Given the description of an element on the screen output the (x, y) to click on. 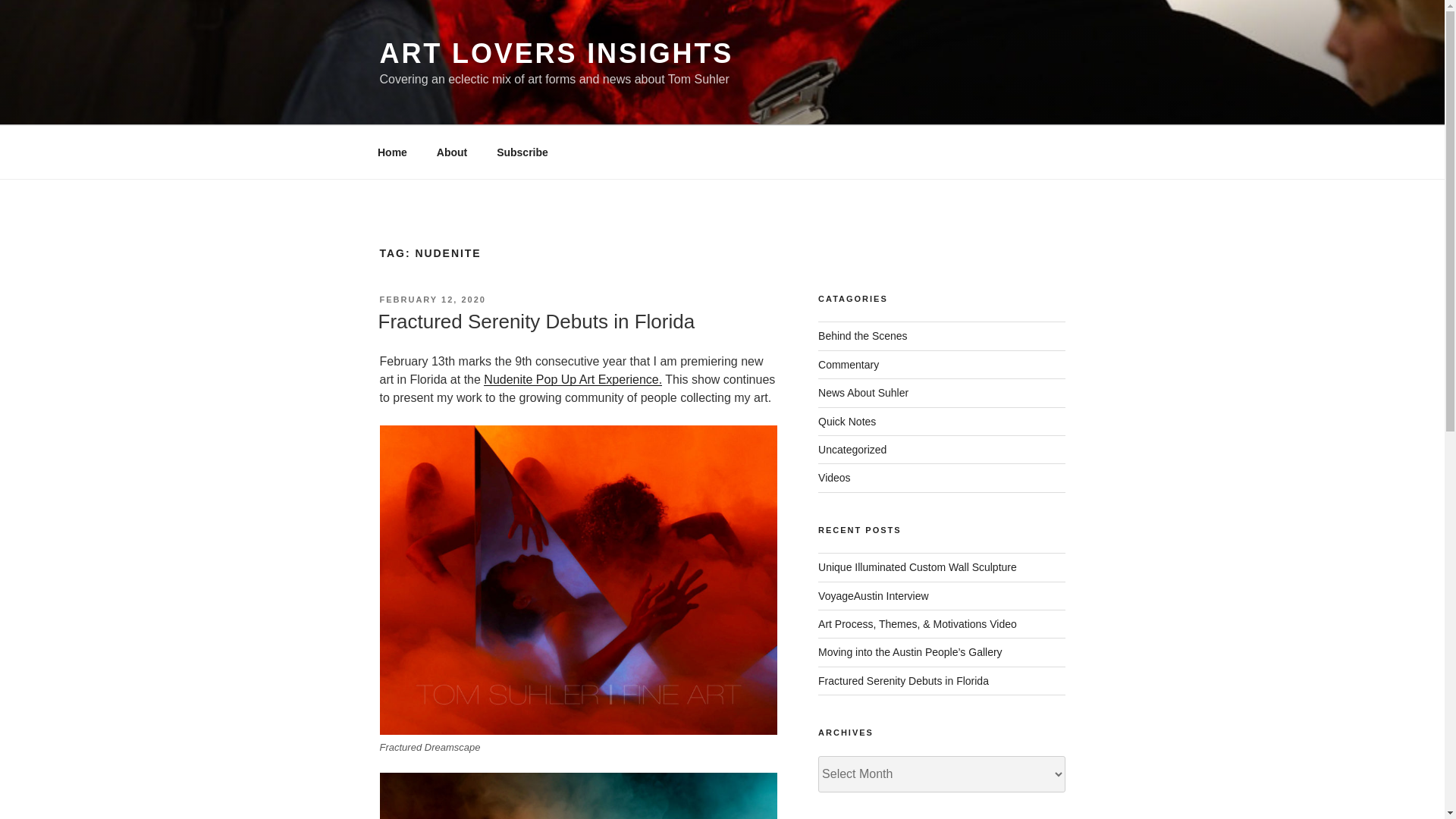
Home (392, 151)
Nudenite Pop Up Art Experience. (572, 379)
About (451, 151)
Videos (834, 477)
FEBRUARY 12, 2020 (431, 298)
VoyageAustin Interview (873, 595)
ART LOVERS INSIGHTS (555, 52)
Home (392, 151)
Subscribe (522, 151)
News About Suhler (863, 392)
Unique Illuminated Custom Wall Sculpture (917, 567)
Behind the Scenes (862, 336)
Fractured Serenity Debuts in Florida (903, 680)
Uncategorized (852, 449)
Commentary (848, 364)
